Given the description of an element on the screen output the (x, y) to click on. 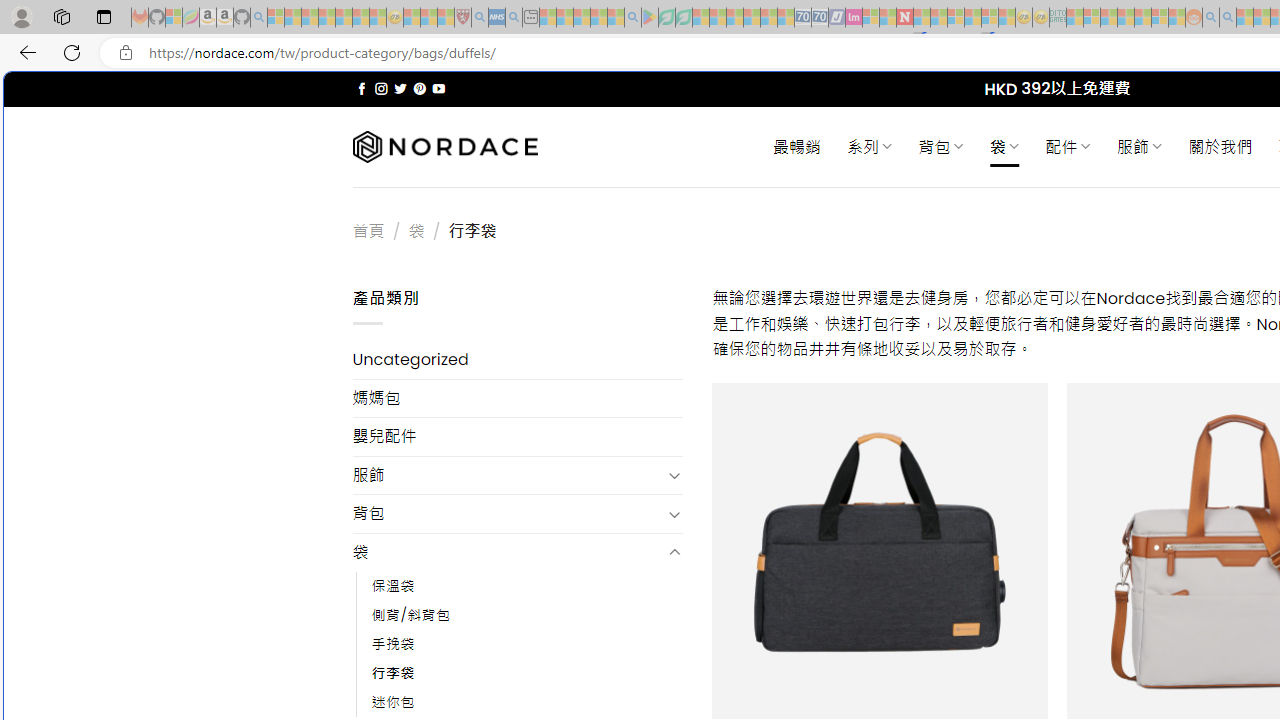
Kinda Frugal - MSN - Sleeping (1142, 17)
Follow on Instagram (381, 88)
Jobs - lastminute.com Investor Portal - Sleeping (853, 17)
Uncategorized (517, 359)
Terms of Use Agreement - Sleeping (666, 17)
